Given the description of an element on the screen output the (x, y) to click on. 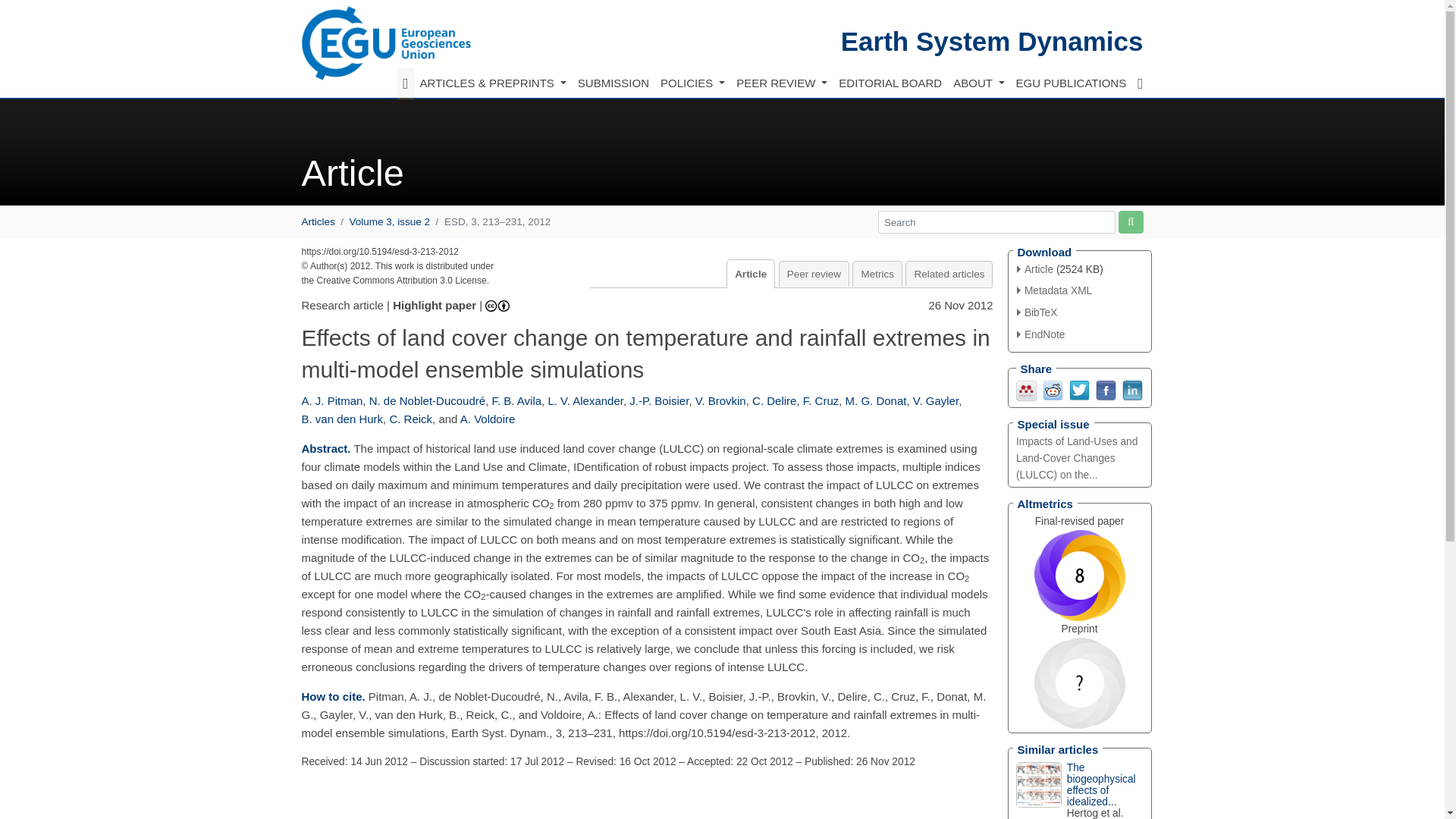
SUBMISSION (612, 83)
Mendeley (1026, 389)
Reddit (1052, 389)
Twitter (1078, 389)
PEER REVIEW (781, 83)
Start site search (1130, 221)
XML Version (1054, 290)
Earth System Dynamics (991, 41)
POLICIES (691, 83)
